Given the description of an element on the screen output the (x, y) to click on. 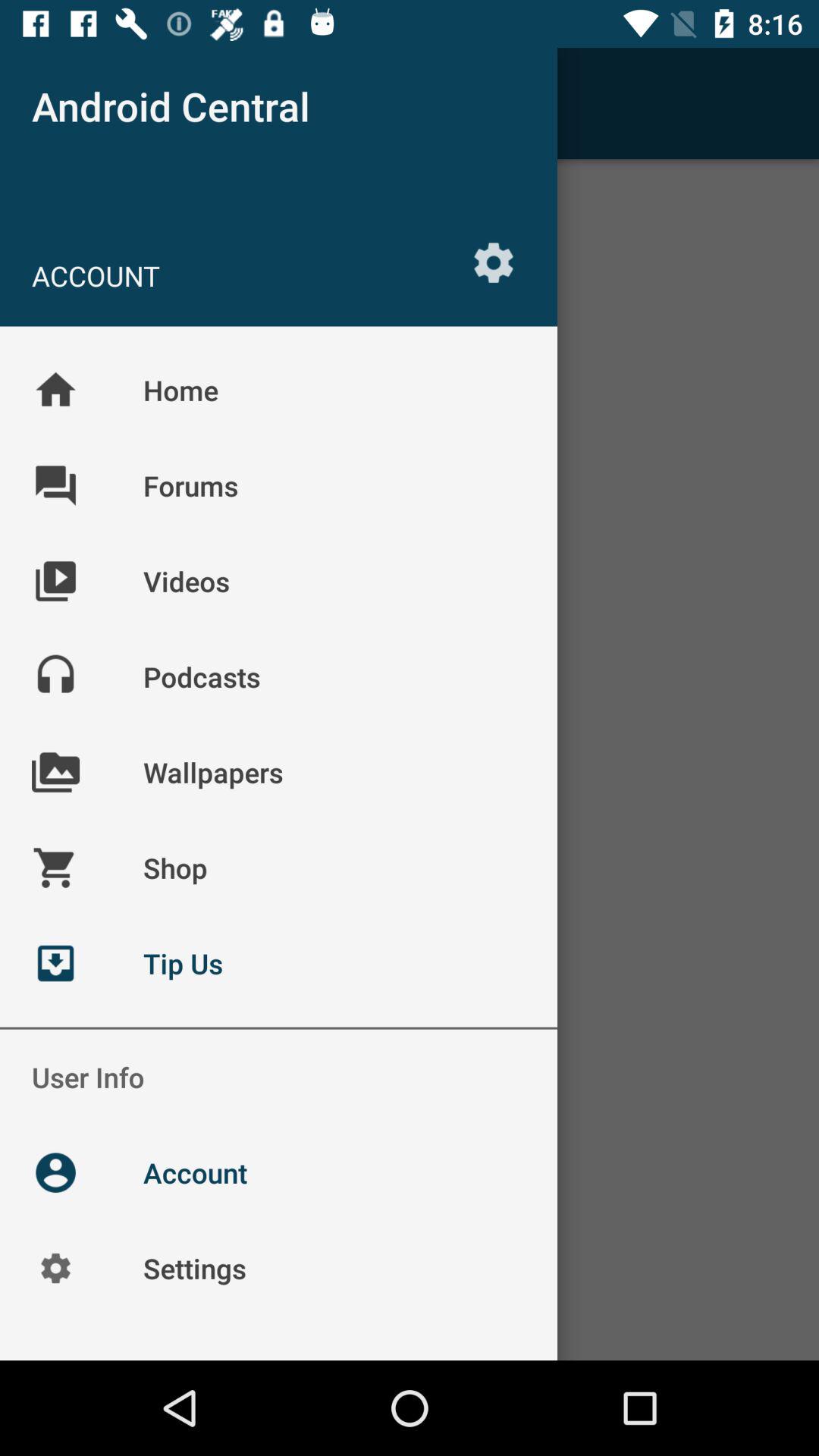
choose icon to the right of the account (493, 262)
